Given the description of an element on the screen output the (x, y) to click on. 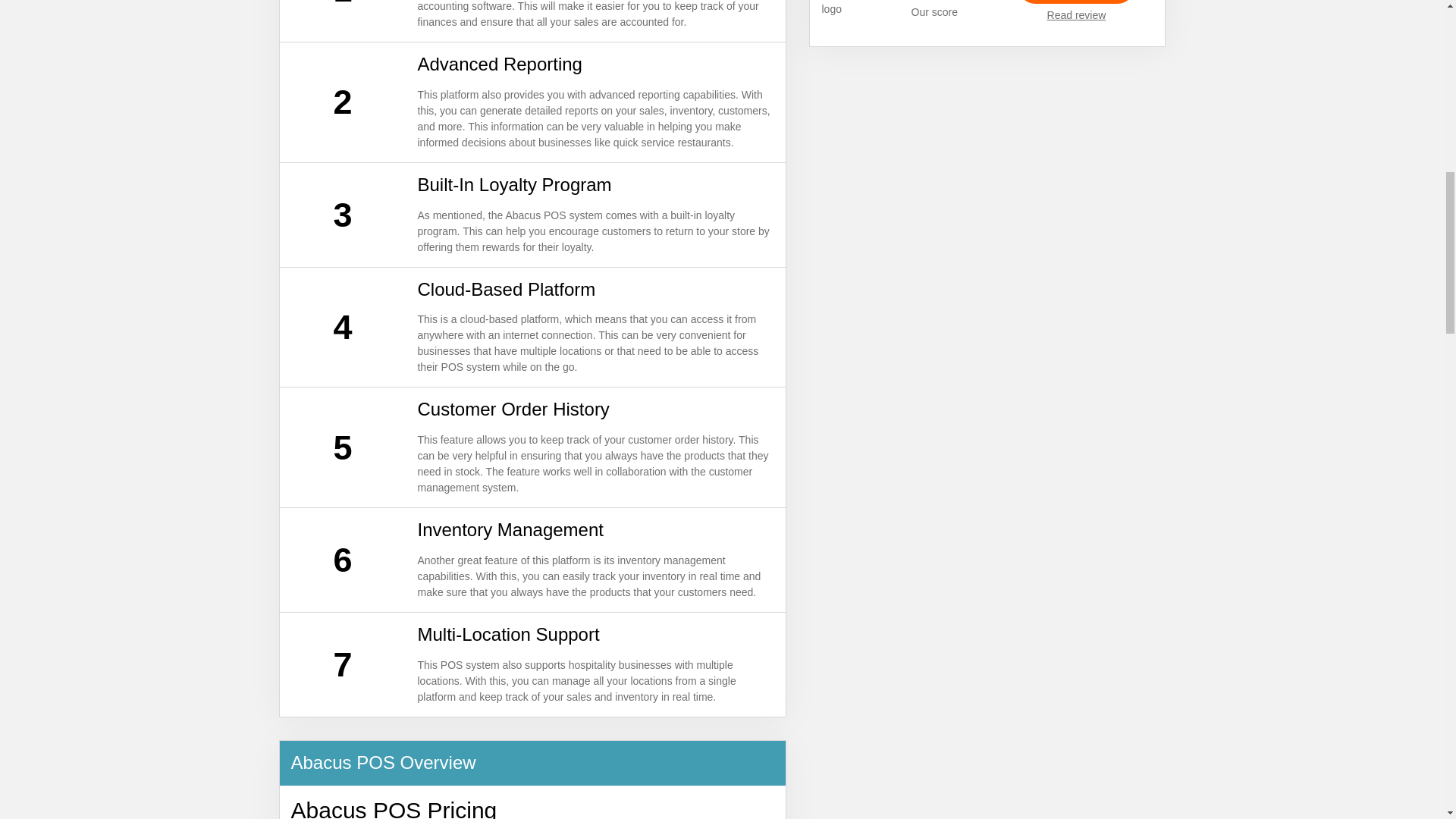
Read review (1076, 15)
Visit website (1076, 2)
